Given the description of an element on the screen output the (x, y) to click on. 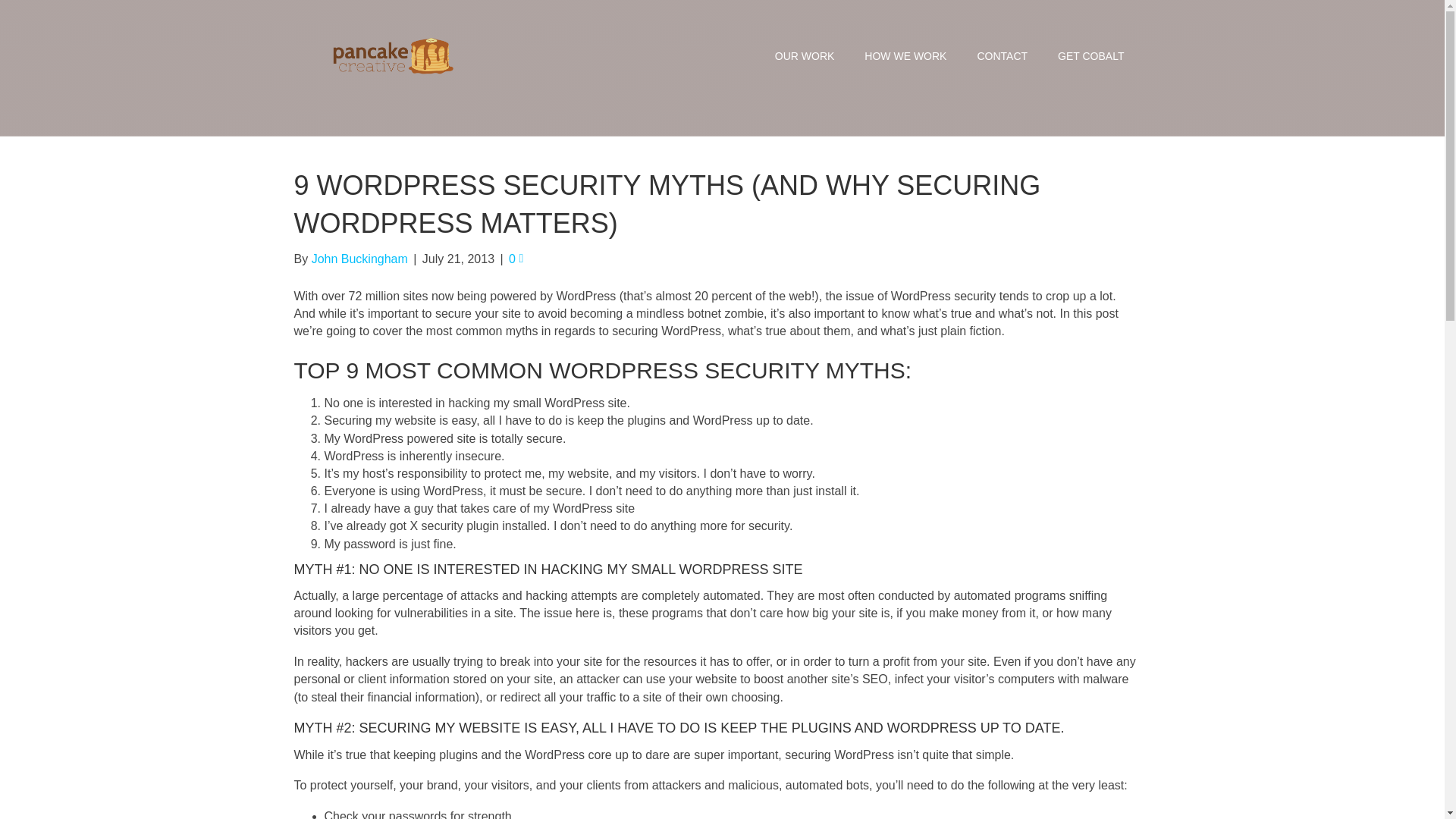
GET COBALT (1090, 56)
John Buckingham (359, 258)
0 (515, 258)
CONTACT (1001, 56)
OUR WORK (805, 56)
HOW WE WORK (904, 56)
